Given the description of an element on the screen output the (x, y) to click on. 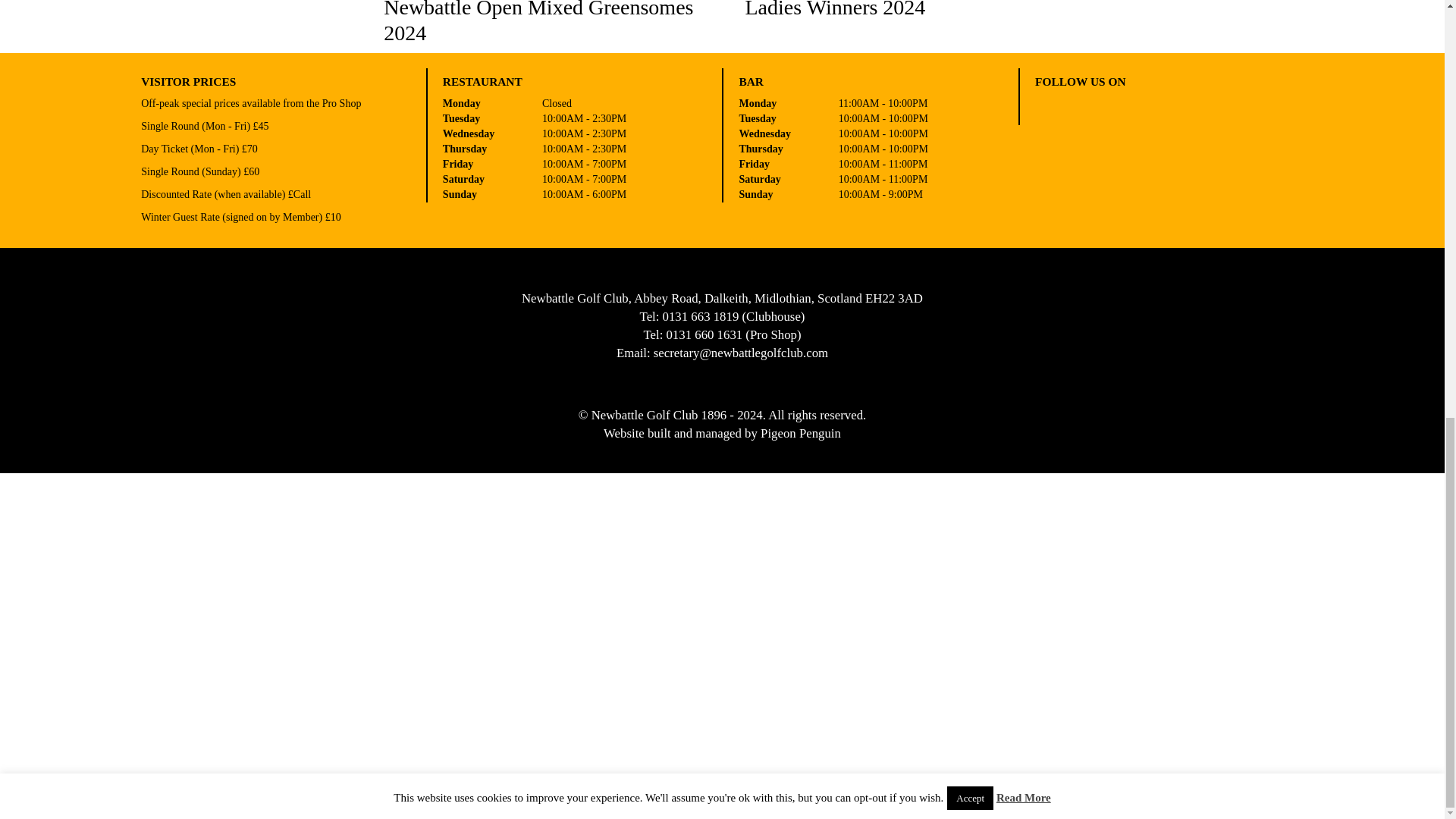
Newbattle Open Mixed Greensomes 2024 (541, 22)
